Given the description of an element on the screen output the (x, y) to click on. 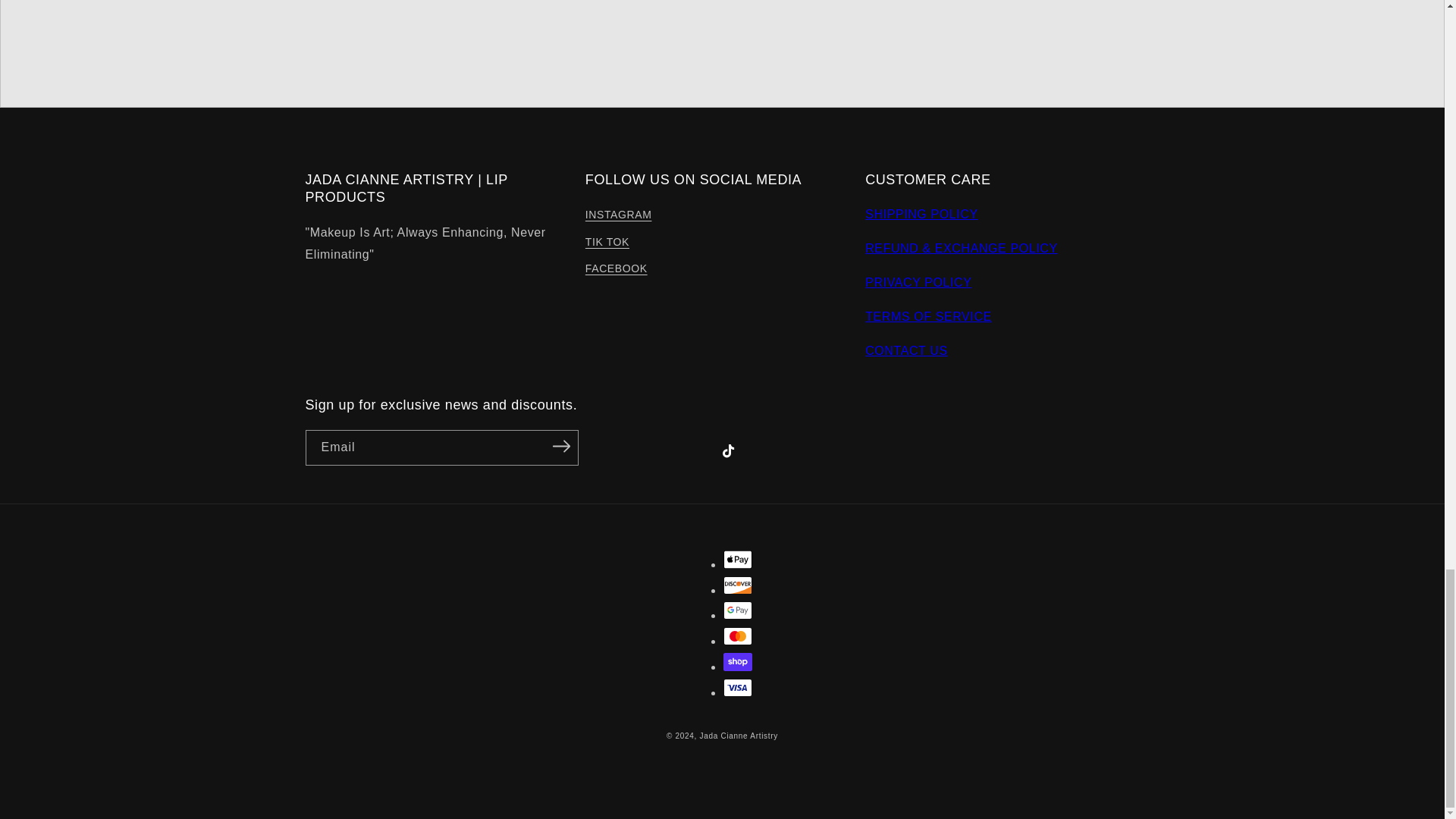
Shop Pay (737, 661)
PRIVACY POLICY (917, 282)
FACEBOOK (616, 268)
Terms of Service (927, 316)
TIK TOK (606, 242)
Privacy Policy (917, 282)
Visa (737, 687)
TERMS OF SERVICE (927, 316)
Contact Information (905, 350)
SHIPPING POLICY (921, 214)
Refund Policy (961, 247)
Apple Pay (737, 559)
Google Pay (737, 610)
Shipping Policy (921, 214)
CONTACT US (905, 350)
